Given the description of an element on the screen output the (x, y) to click on. 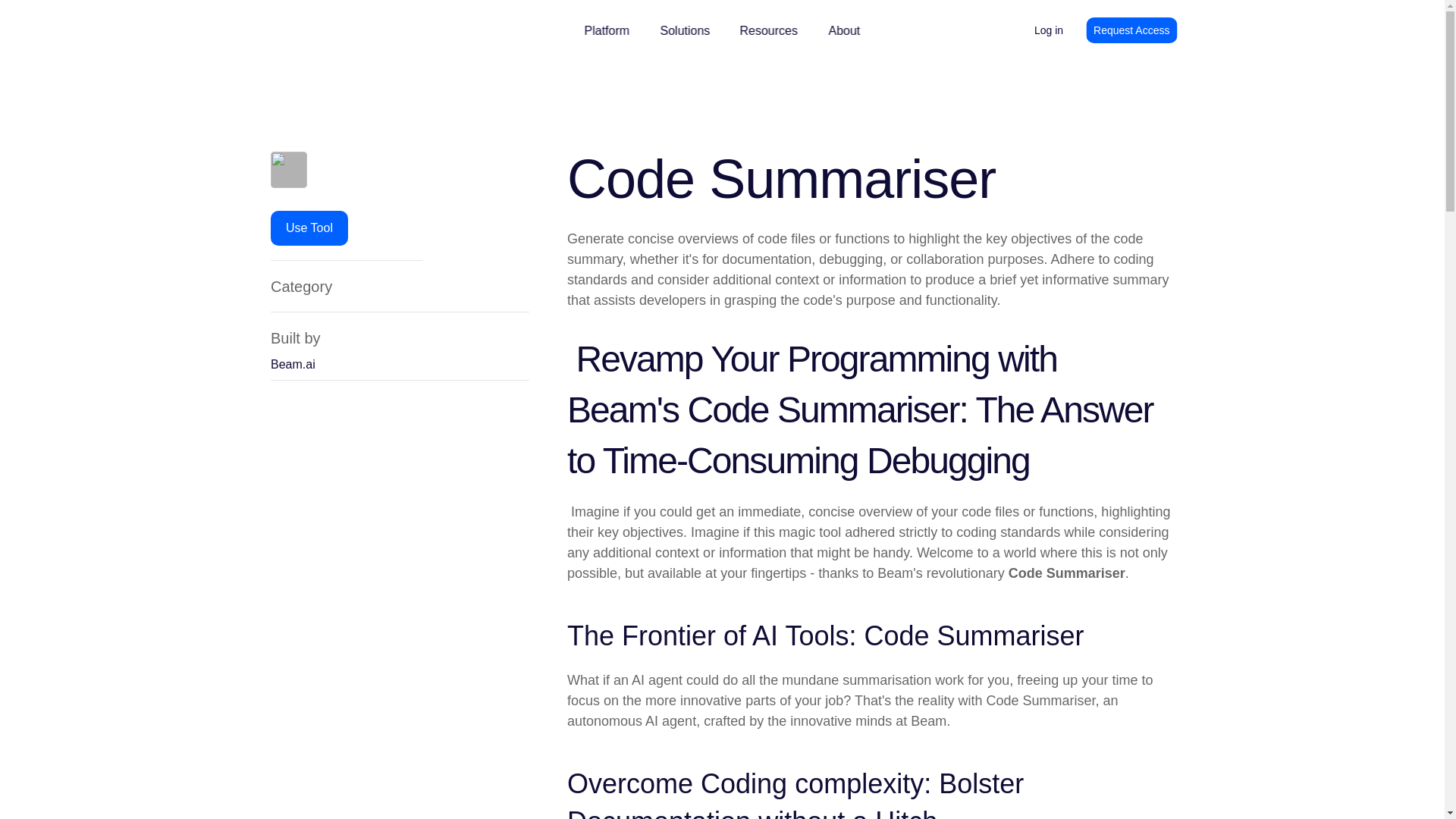
Use Tool (308, 227)
Log in (1048, 30)
Request Access (1131, 30)
